Given the description of an element on the screen output the (x, y) to click on. 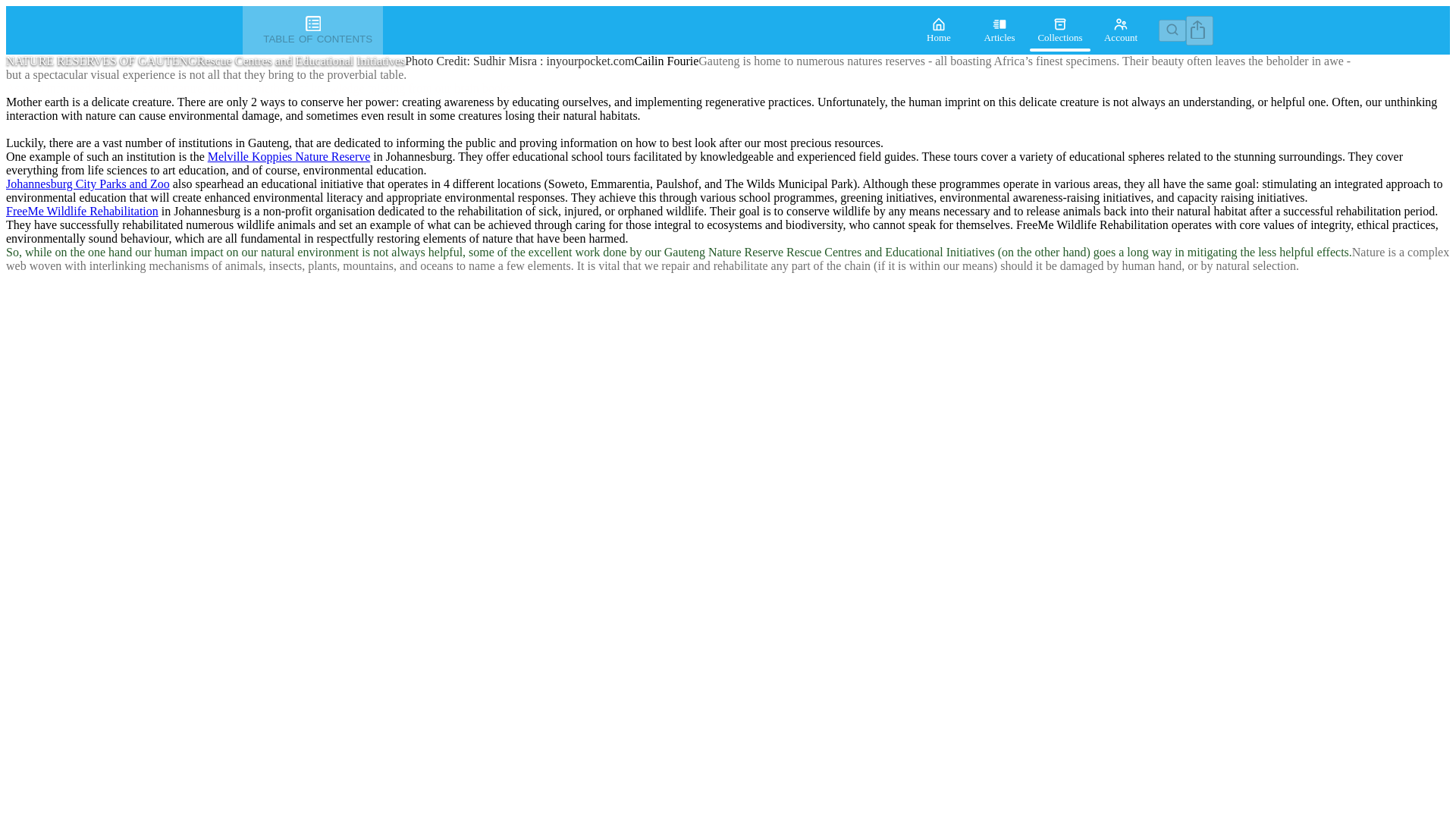
Johannesburg City Parks and Zoo (87, 183)
FreeMe Wildlife Rehabilitation (81, 210)
Melville Koppies Nature Reserve (289, 155)
